Given the description of an element on the screen output the (x, y) to click on. 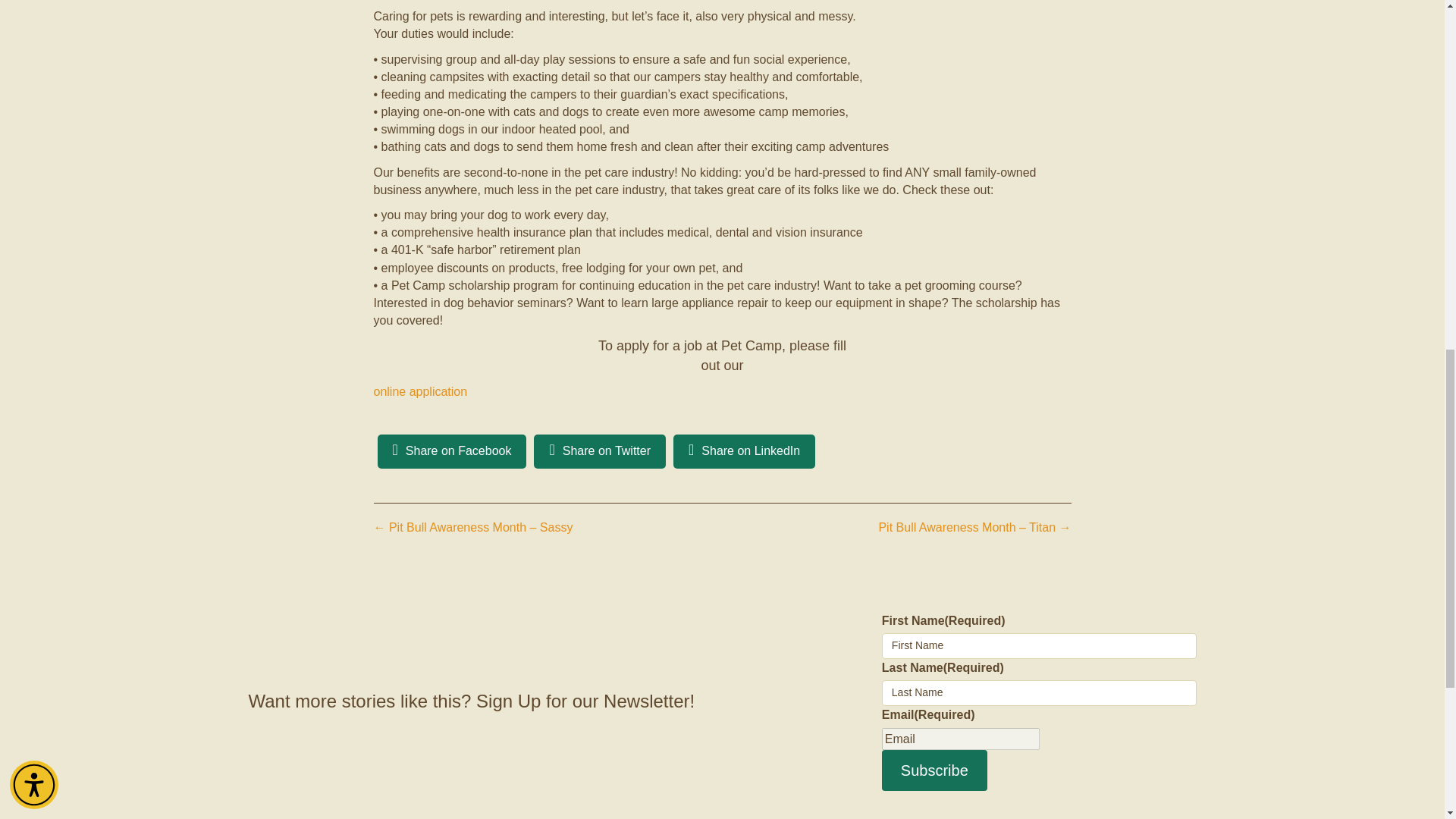
Subscribe (934, 770)
